Given the description of an element on the screen output the (x, y) to click on. 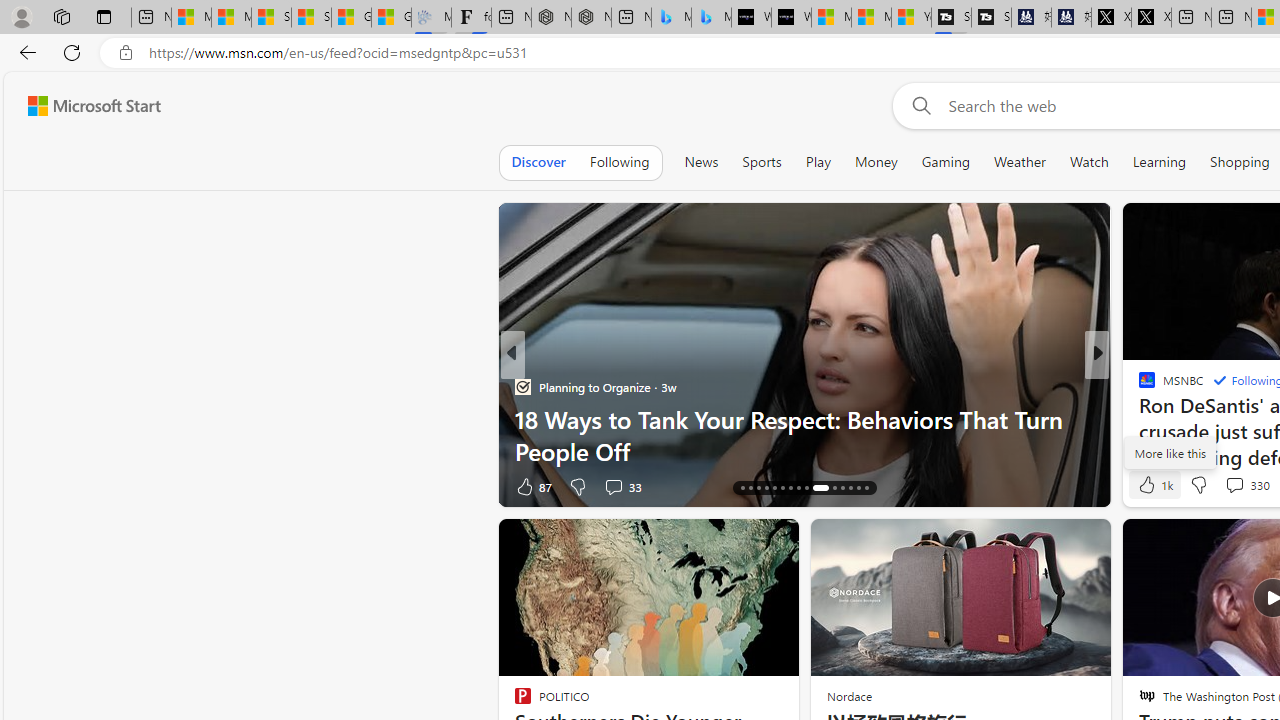
AutomationID: tab-19 (765, 487)
View comments 6 Comment (11, 485)
This story is trending (449, 490)
Comments turned off for this story (1222, 485)
Business Insider (1138, 386)
Web search (917, 105)
8 Like (1145, 486)
AutomationID: tab-28 (850, 487)
